Given the description of an element on the screen output the (x, y) to click on. 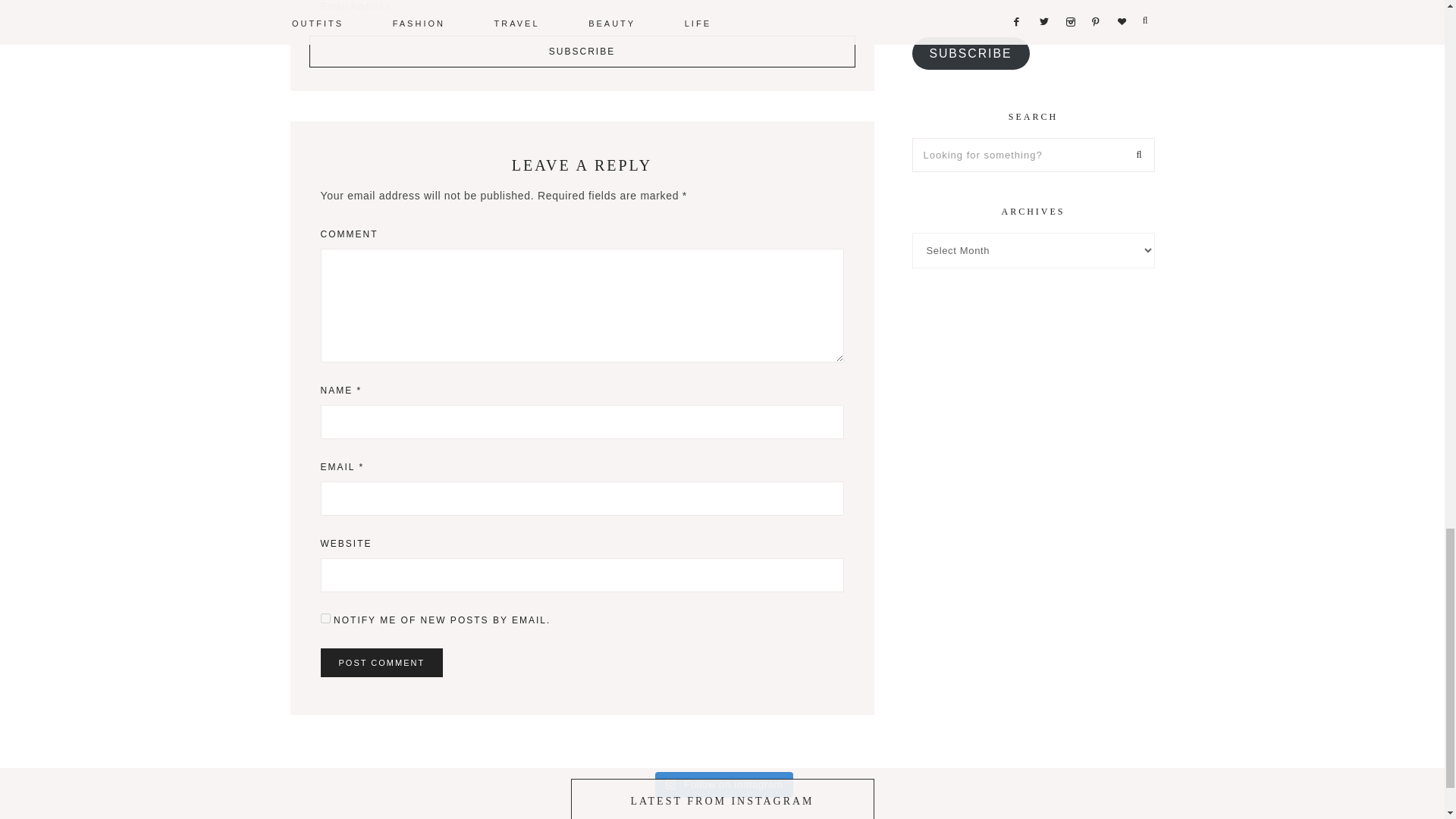
Subscribe (582, 51)
Subscribe (582, 51)
Post Comment (381, 662)
Post Comment (381, 662)
subscribe (325, 618)
